Given the description of an element on the screen output the (x, y) to click on. 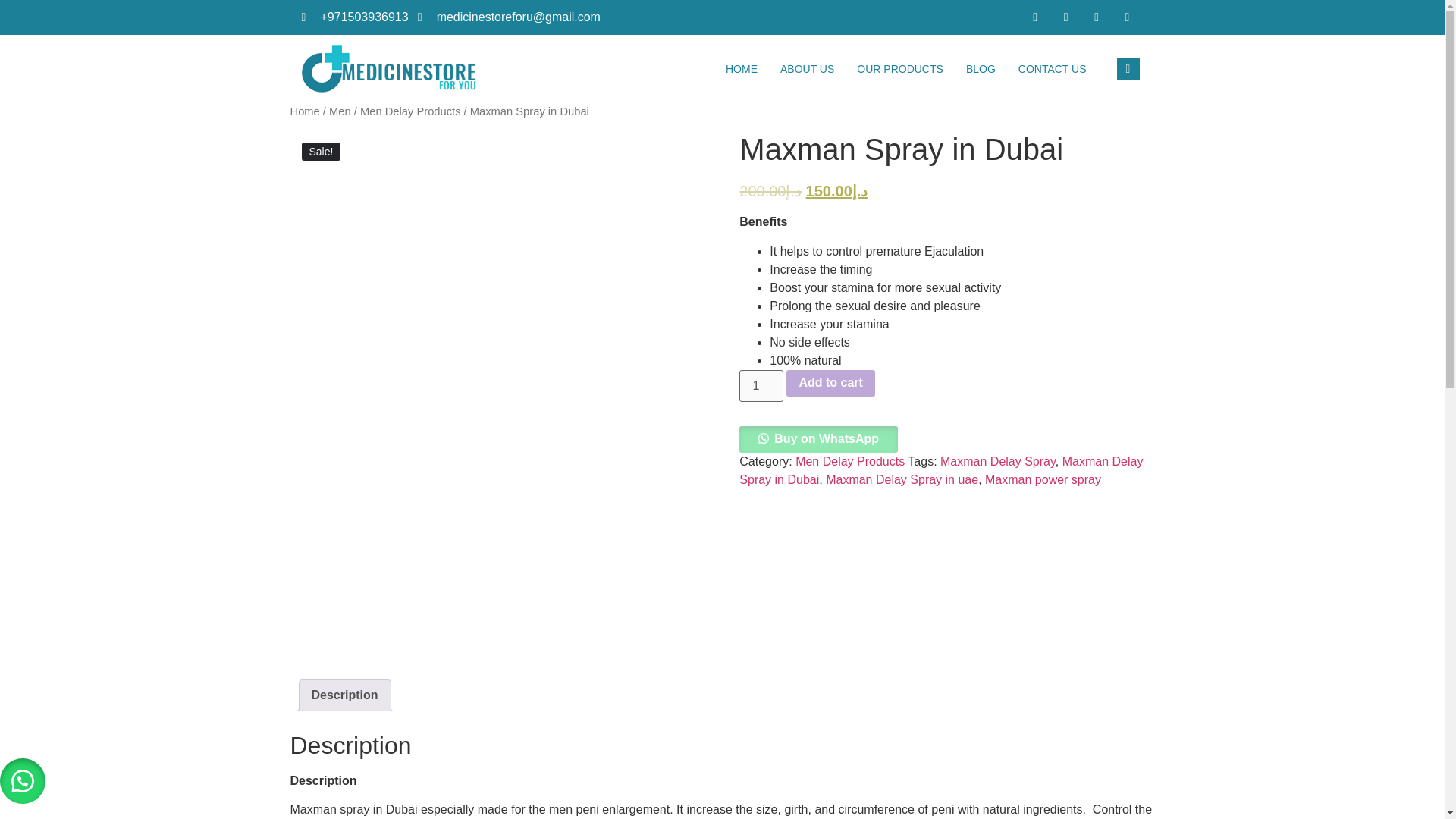
Description (344, 695)
Men Delay Products (849, 461)
Home (303, 111)
Buy on WhatsApp (818, 438)
OUR PRODUCTS (900, 68)
1 (761, 386)
Maxman Delay Spray in Dubai (940, 470)
Maxman Delay Spray in uae (901, 479)
CONTACT US (1052, 68)
Men Delay Products (410, 111)
HOME (741, 68)
ABOUT US (806, 68)
BLOG (981, 68)
Add to cart (830, 383)
Buy on WhatsApp (818, 439)
